Given the description of an element on the screen output the (x, y) to click on. 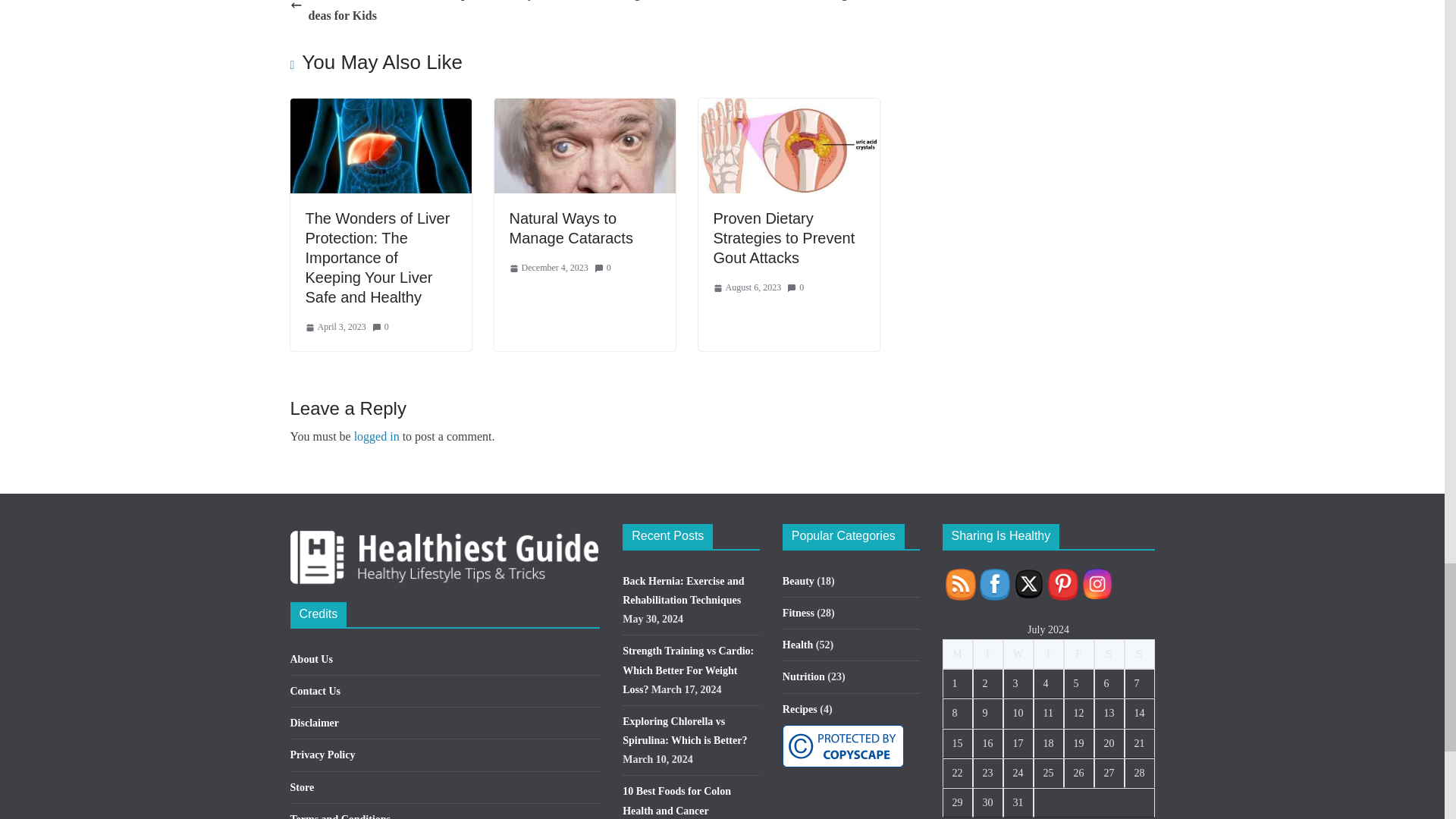
2:14 pm (334, 327)
